Given the description of an element on the screen output the (x, y) to click on. 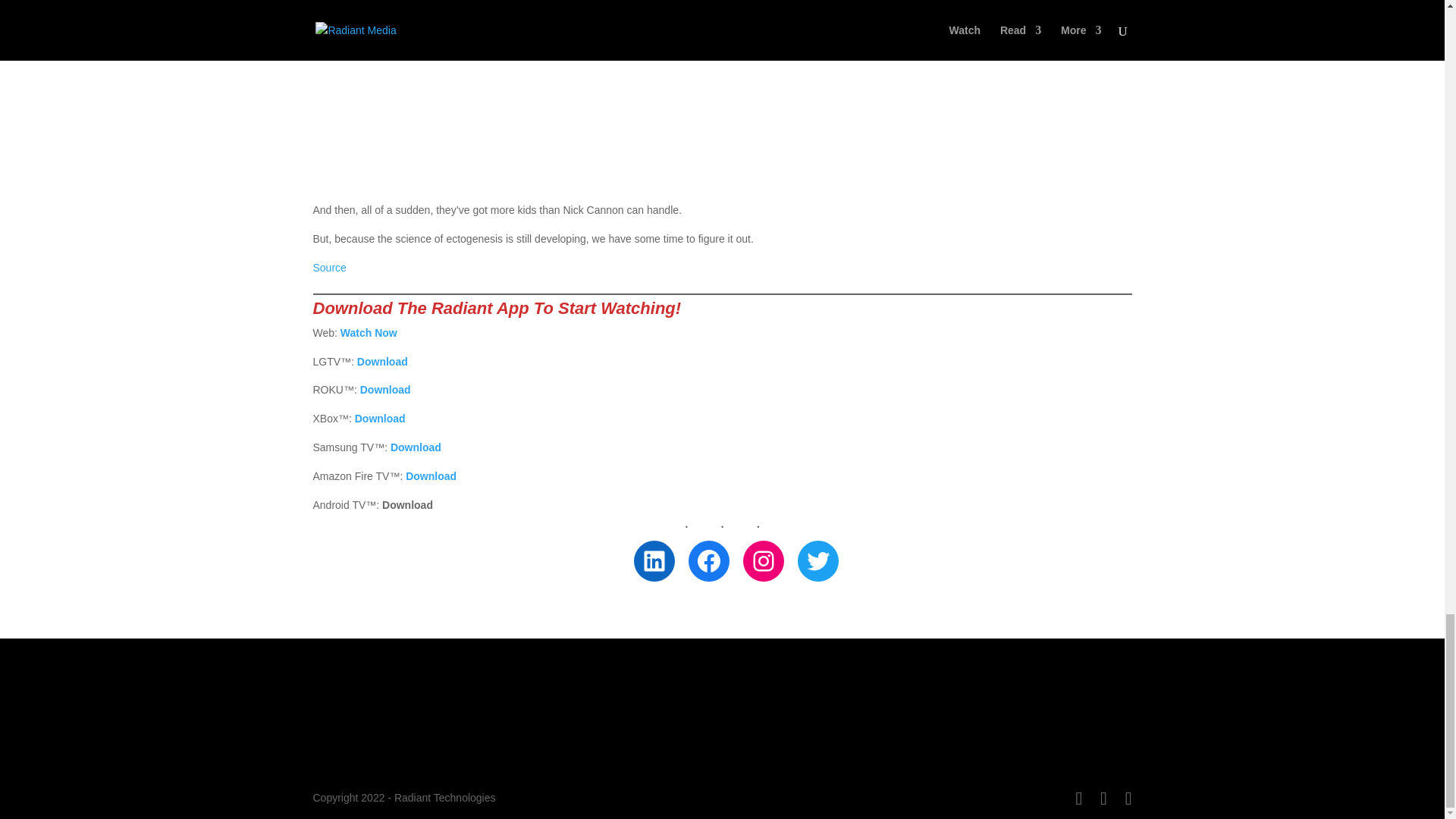
Watch Now (368, 332)
Download (384, 389)
Instagram (763, 560)
Download (431, 476)
LinkedIn (654, 560)
Twitter (817, 560)
Download (380, 418)
Source (329, 267)
Download (381, 361)
Download (415, 447)
Facebook (708, 560)
